Given the description of an element on the screen output the (x, y) to click on. 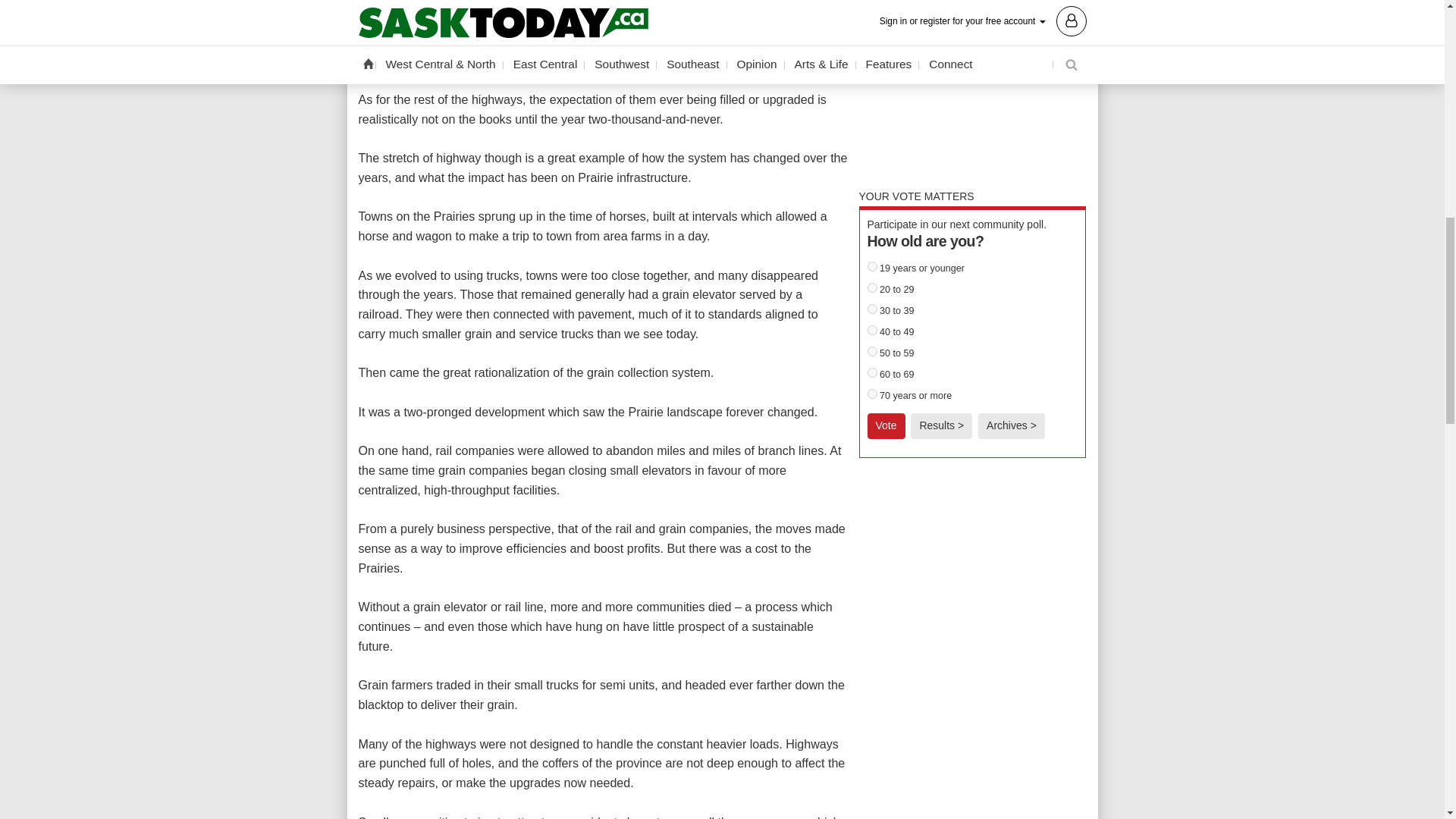
121950 (872, 308)
121948 (872, 266)
121954 (872, 393)
121951 (872, 329)
121952 (872, 351)
121949 (872, 287)
121953 (872, 372)
